Given the description of an element on the screen output the (x, y) to click on. 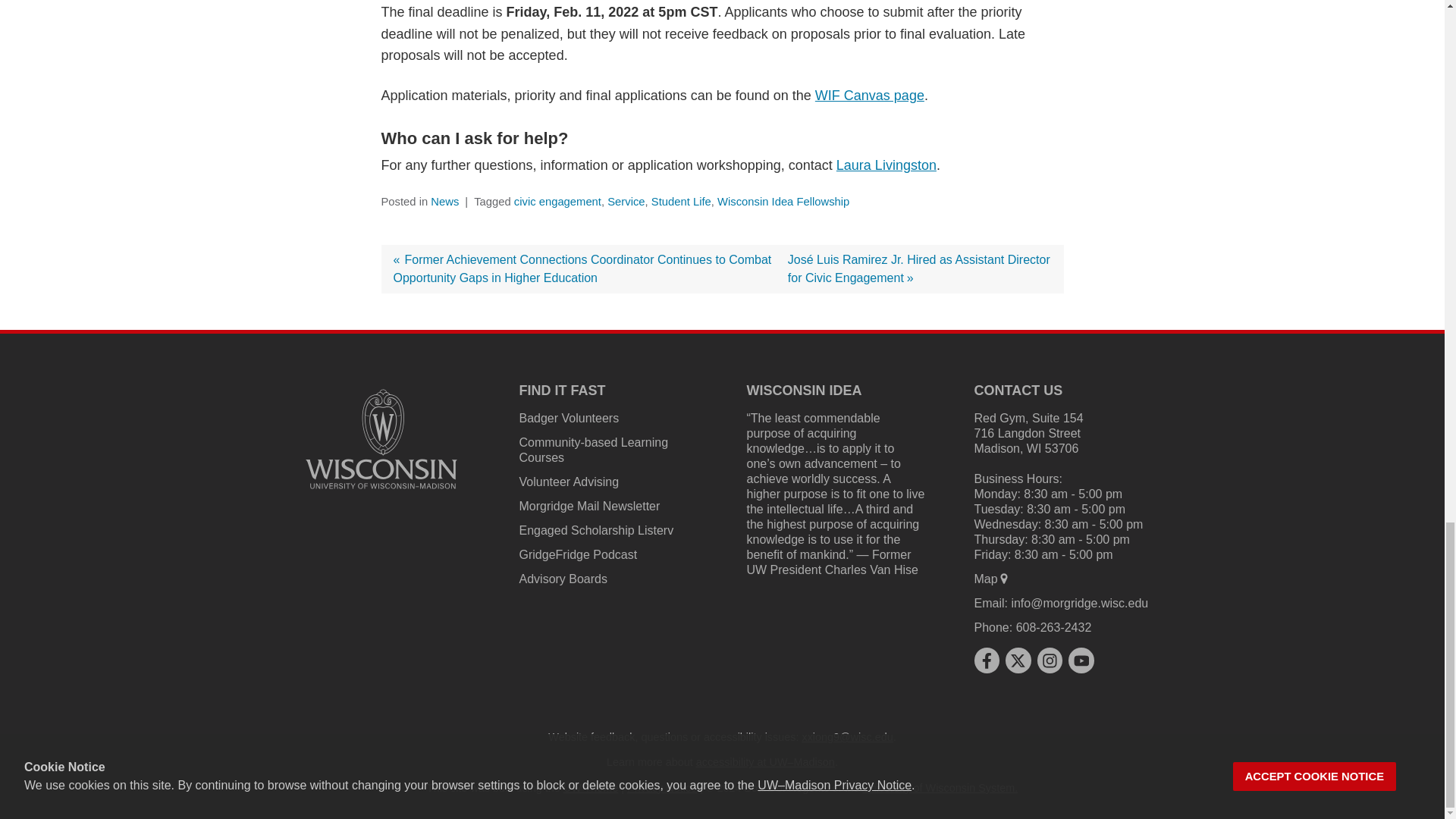
youtube (1081, 660)
map marker (1003, 578)
University logo that links to main university website (380, 439)
instagram (1049, 660)
x twitter (1018, 660)
facebook (986, 660)
